Given the description of an element on the screen output the (x, y) to click on. 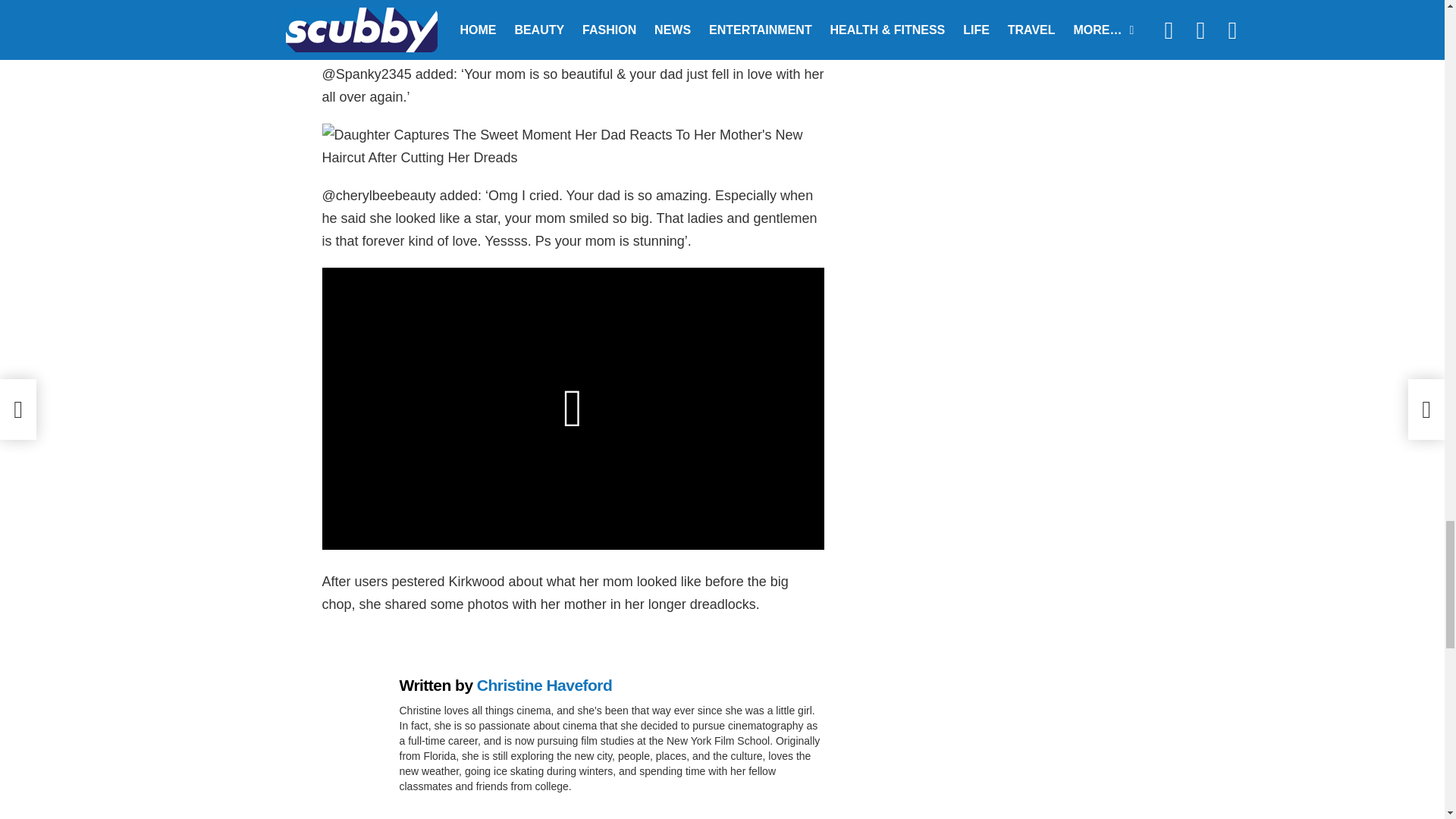
Christine Haveford (544, 684)
